Given the description of an element on the screen output the (x, y) to click on. 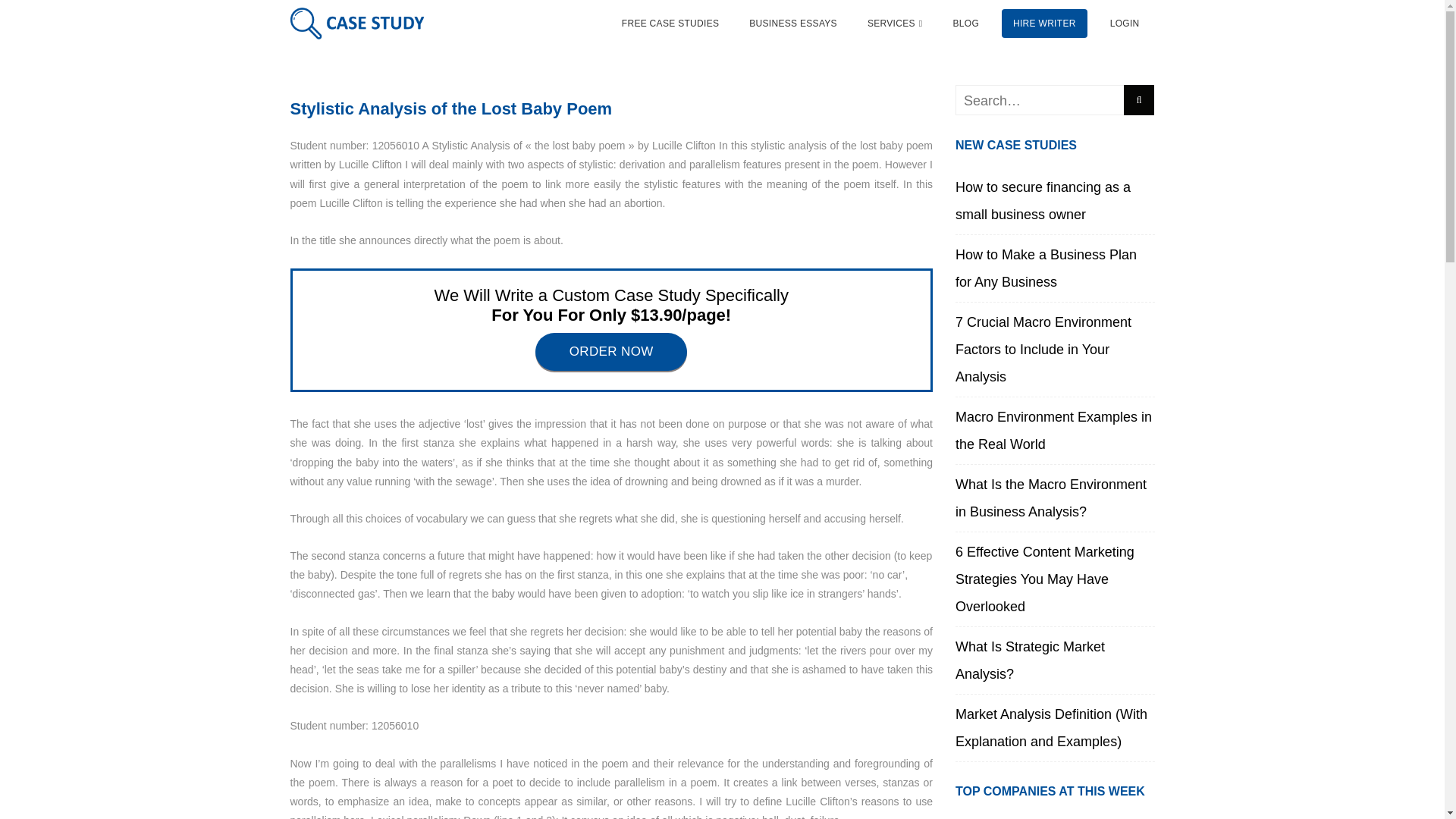
BLOG (965, 23)
LOGIN (1124, 23)
BUSINESS ESSAYS (793, 23)
FREE CASE STUDIES (670, 23)
HIRE WRITER (1044, 23)
SERVICES (895, 23)
